Given the description of an element on the screen output the (x, y) to click on. 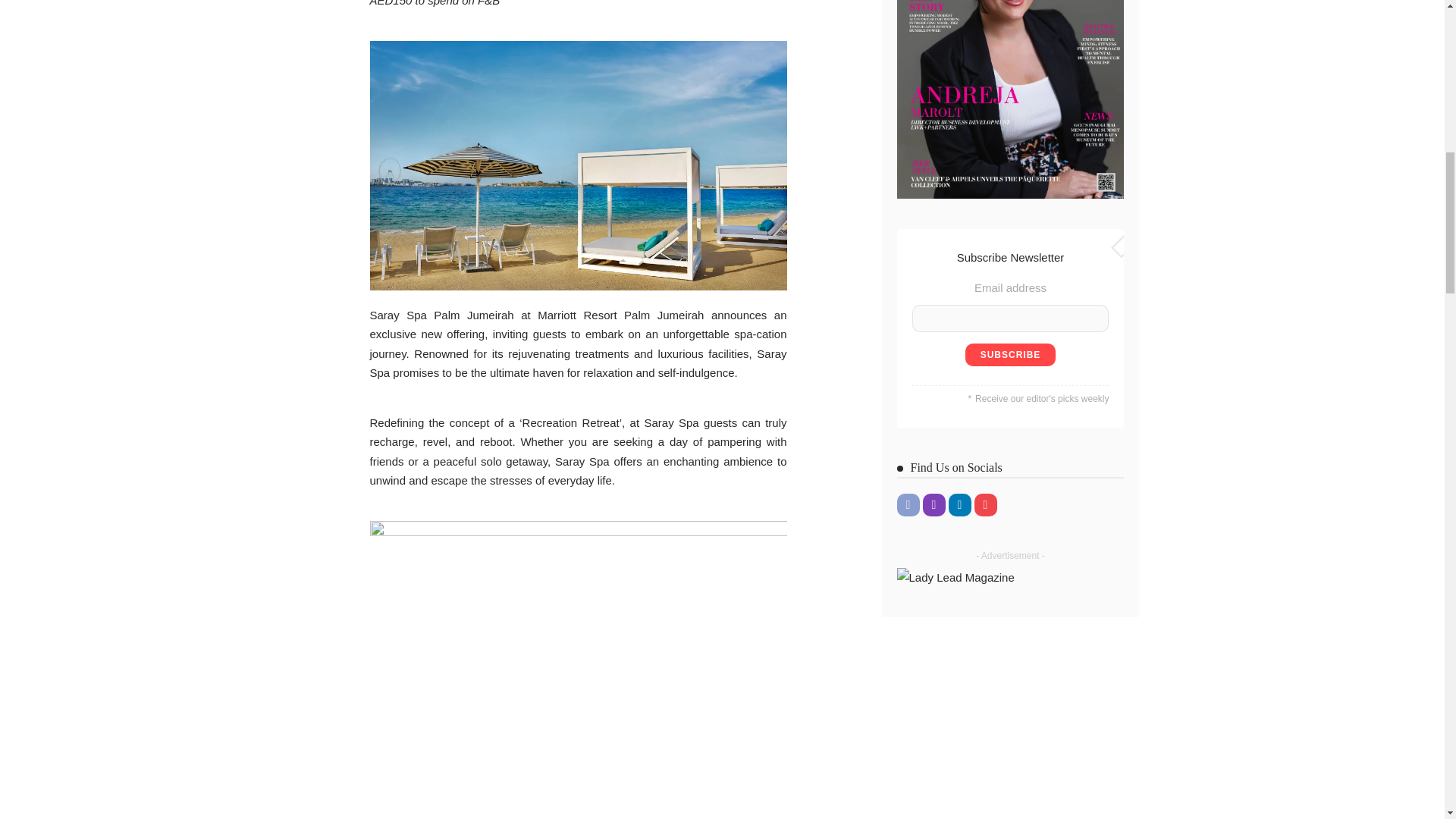
Subscribe (1011, 354)
